Given the description of an element on the screen output the (x, y) to click on. 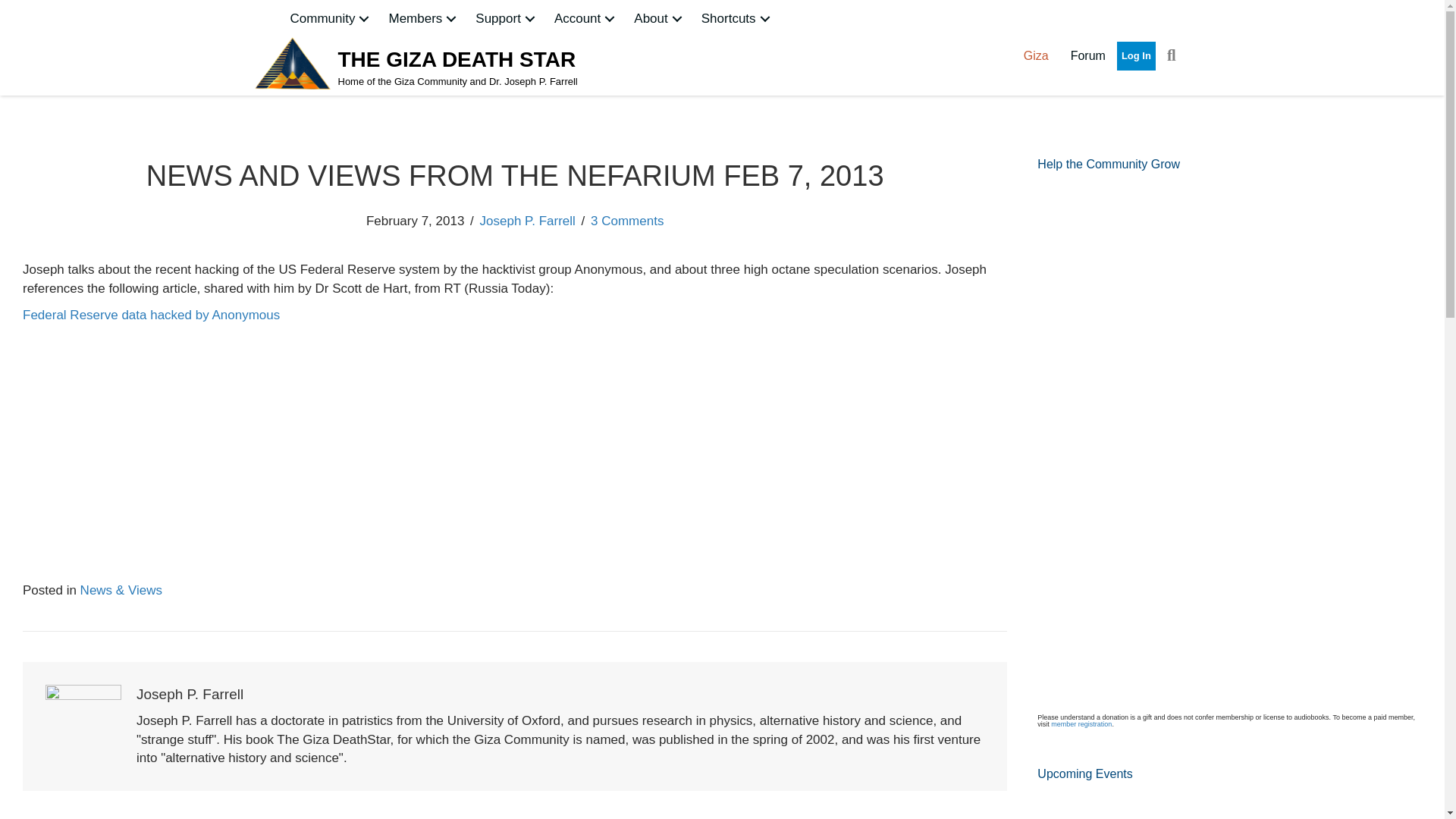
About (659, 19)
Members (423, 19)
Support (507, 19)
Community (331, 19)
Account (586, 19)
NEWS AND VIEWS FROM THE NEFARIUM FEB 7, 2013 (212, 438)
